Given the description of an element on the screen output the (x, y) to click on. 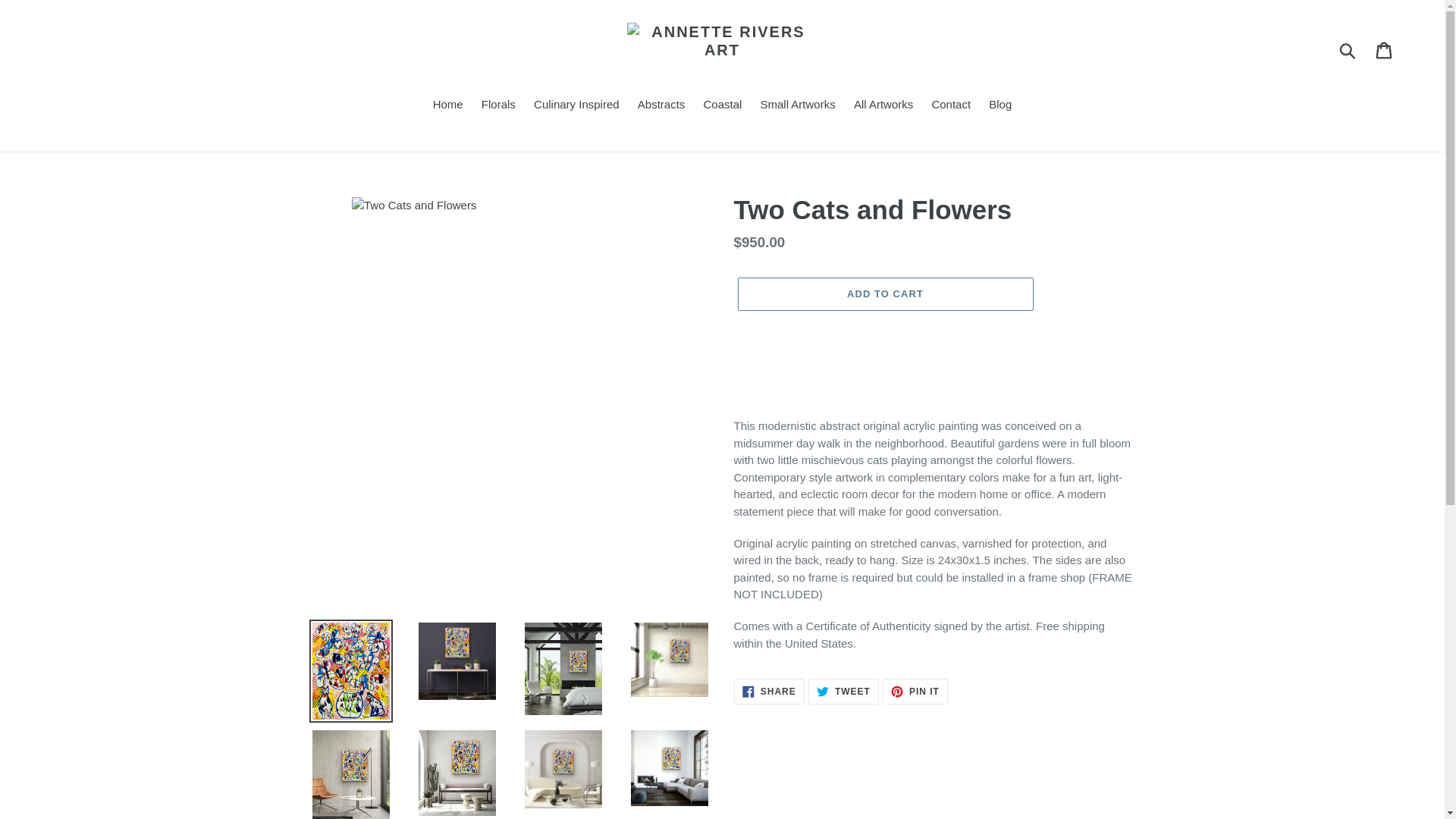
Culinary Inspired (576, 106)
Contact (950, 106)
Small Artworks (797, 106)
Coastal (722, 106)
Cart (1385, 49)
Abstracts (661, 106)
Florals (498, 106)
Home (447, 106)
Submit (1348, 49)
Blog (1000, 106)
